Given the description of an element on the screen output the (x, y) to click on. 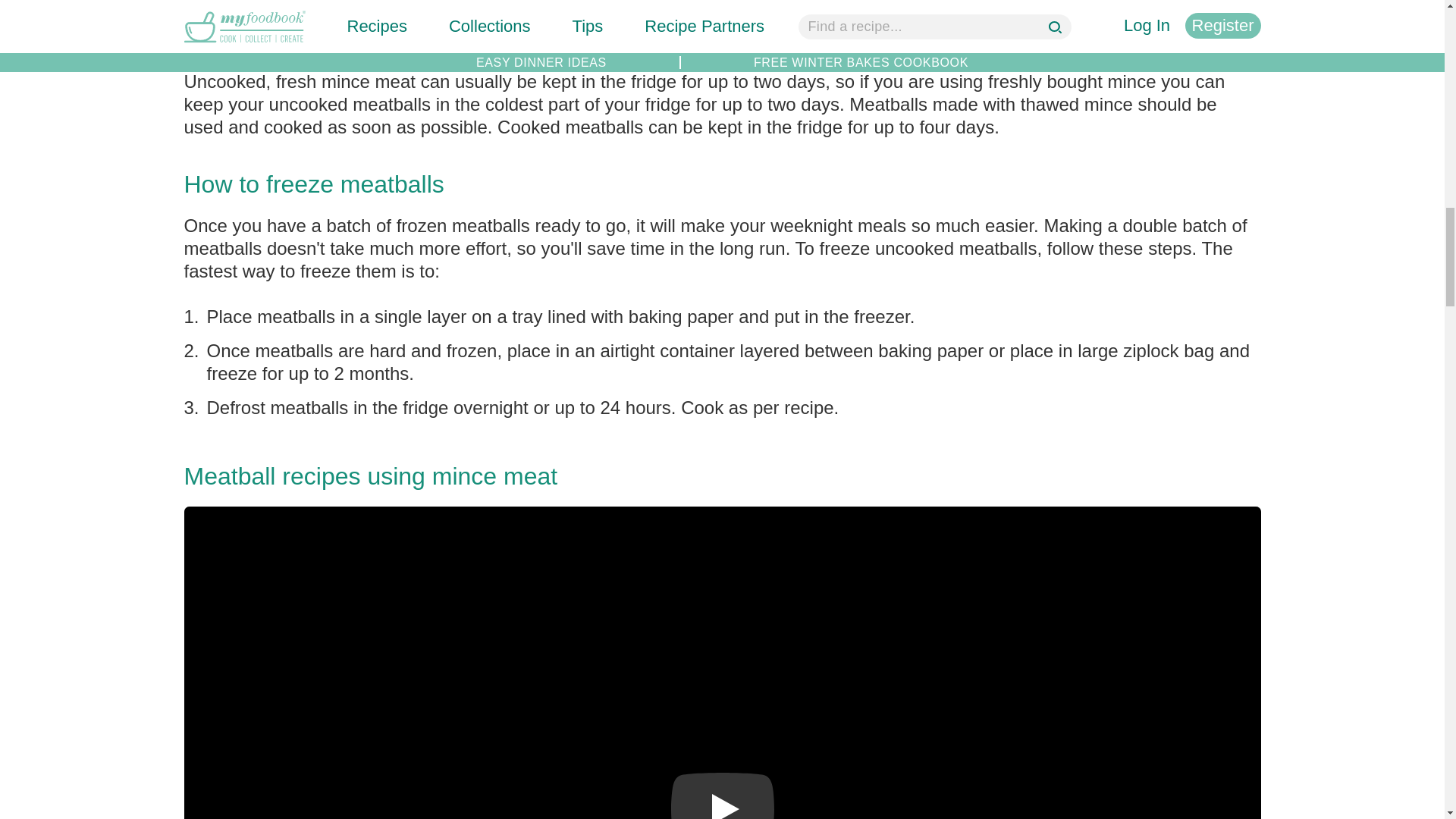
Play: Chicken Meatballs in a Creamy Mushroom Sauce (721, 796)
Play Video: Chicken Meatballs in a Creamy Mushroom Sauce (721, 796)
